Given the description of an element on the screen output the (x, y) to click on. 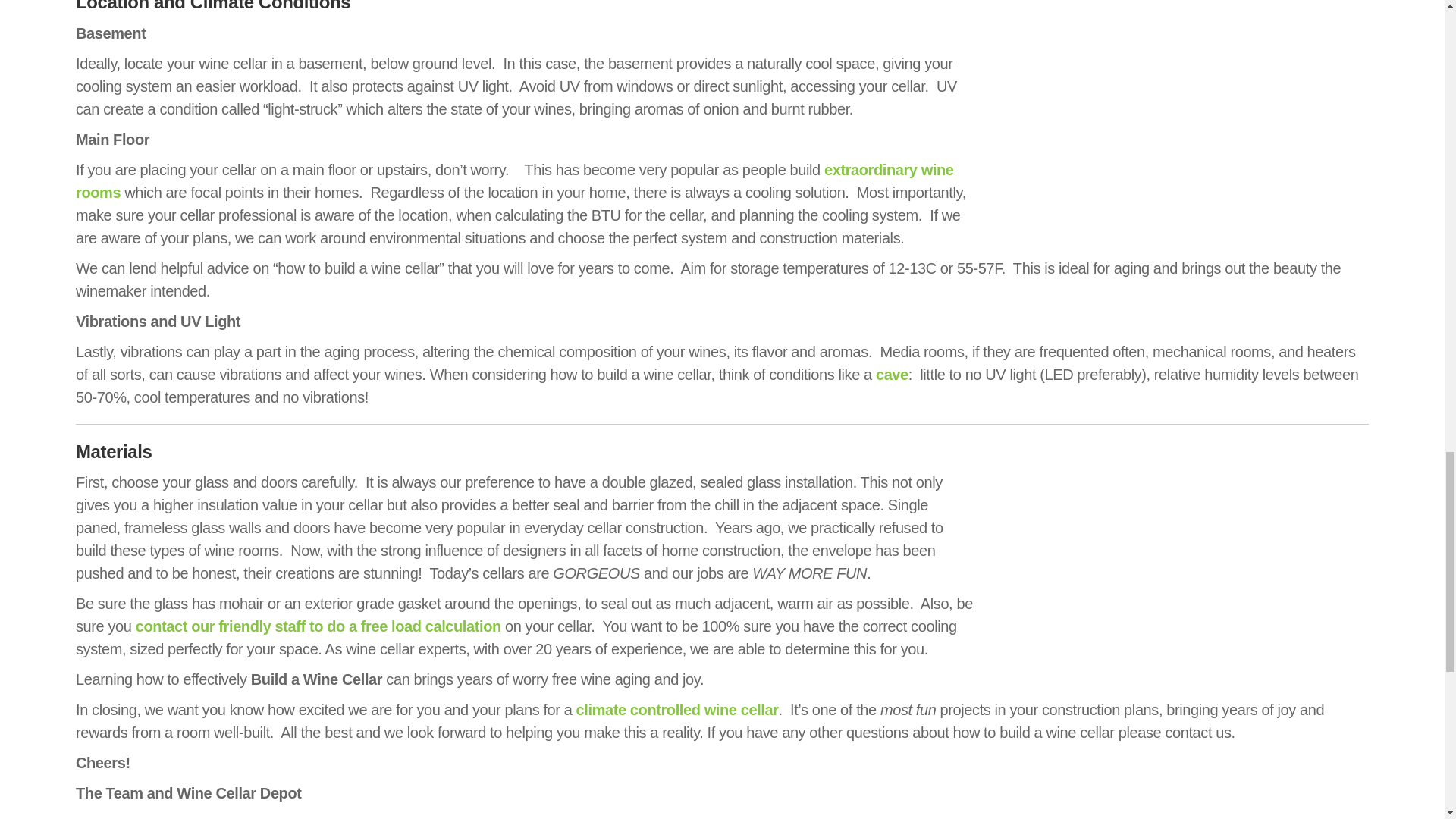
How to Build a Wine Cellar 6 (1179, 561)
How to Build a Wine Cellar 5 (1179, 112)
extraordinary wine rooms (514, 180)
cave (892, 374)
